Given the description of an element on the screen output the (x, y) to click on. 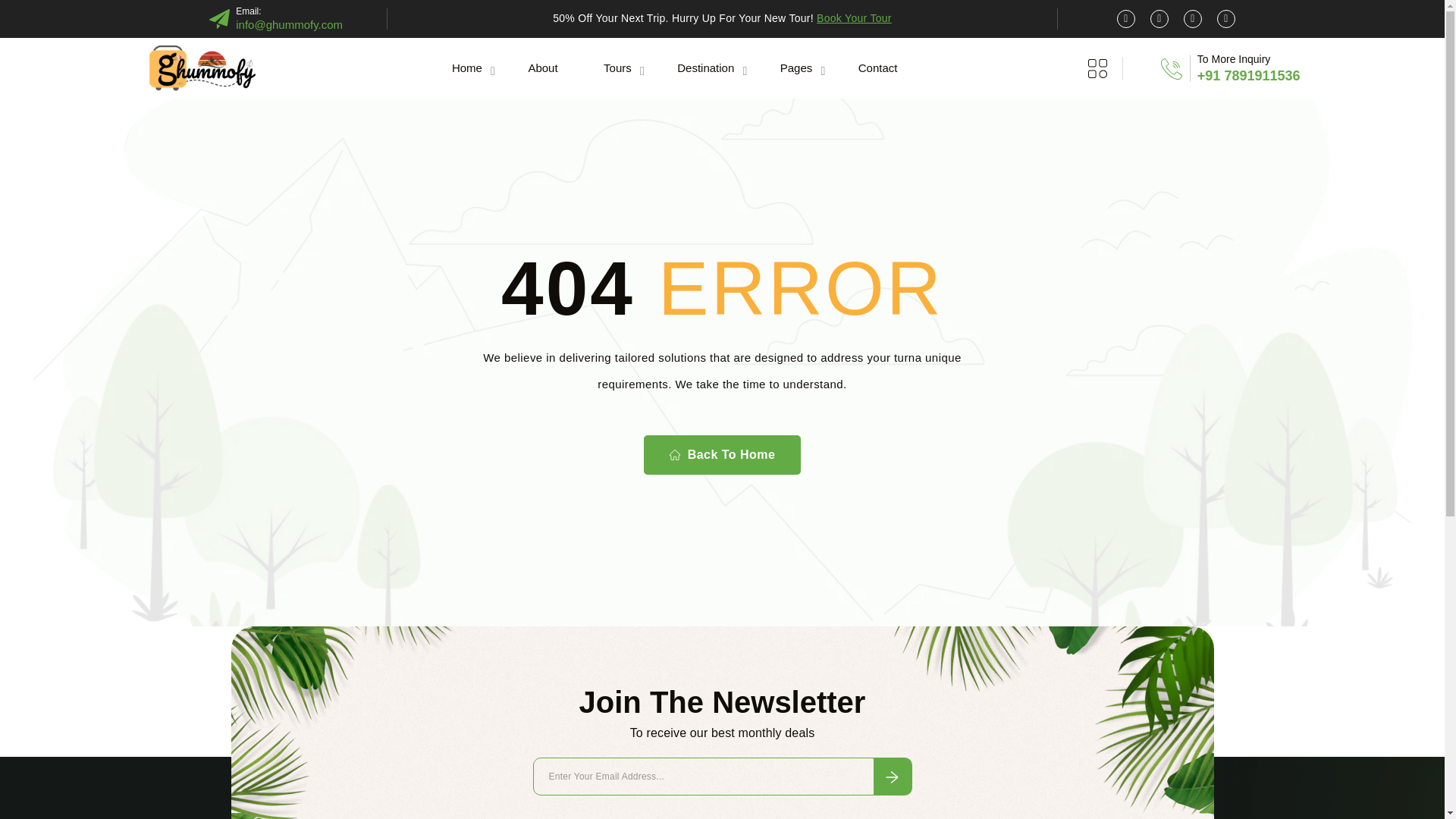
Tours (617, 67)
Home (466, 67)
Book Your Tour (853, 18)
About (542, 67)
